Given the description of an element on the screen output the (x, y) to click on. 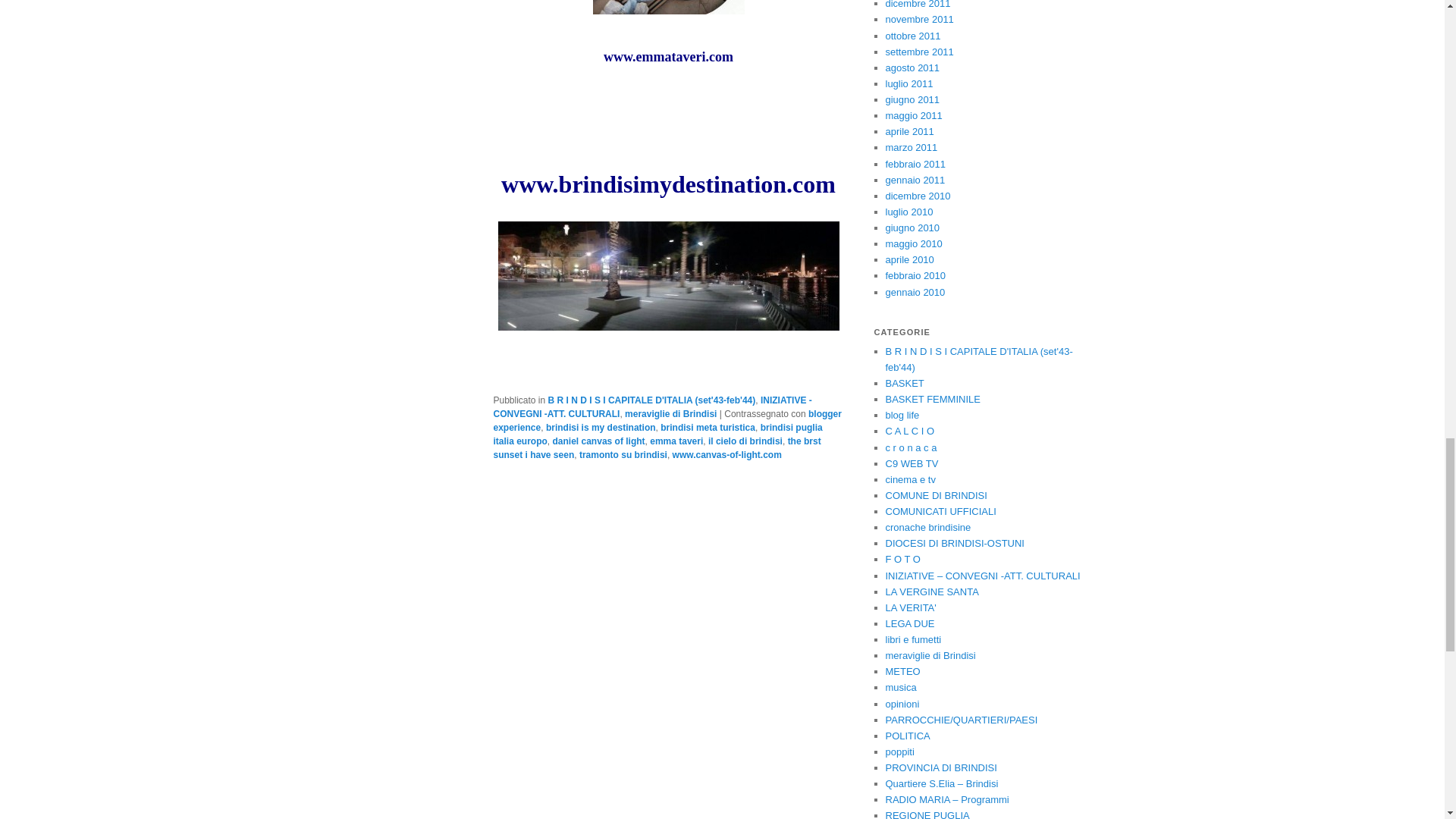
brindisi meta turistica (708, 427)
INIZIATIVE - CONVEGNI -ATT. CULTURALI (651, 406)
blogger experience (667, 420)
brindisi puglia italia europo (657, 434)
www.canvas-of-light.com (726, 454)
emma taveri (676, 440)
brindisi is my destination (601, 427)
tramonto su brindisi (622, 454)
il cielo di brindisi (745, 440)
meraviglie di Brindisi (670, 413)
